Given the description of an element on the screen output the (x, y) to click on. 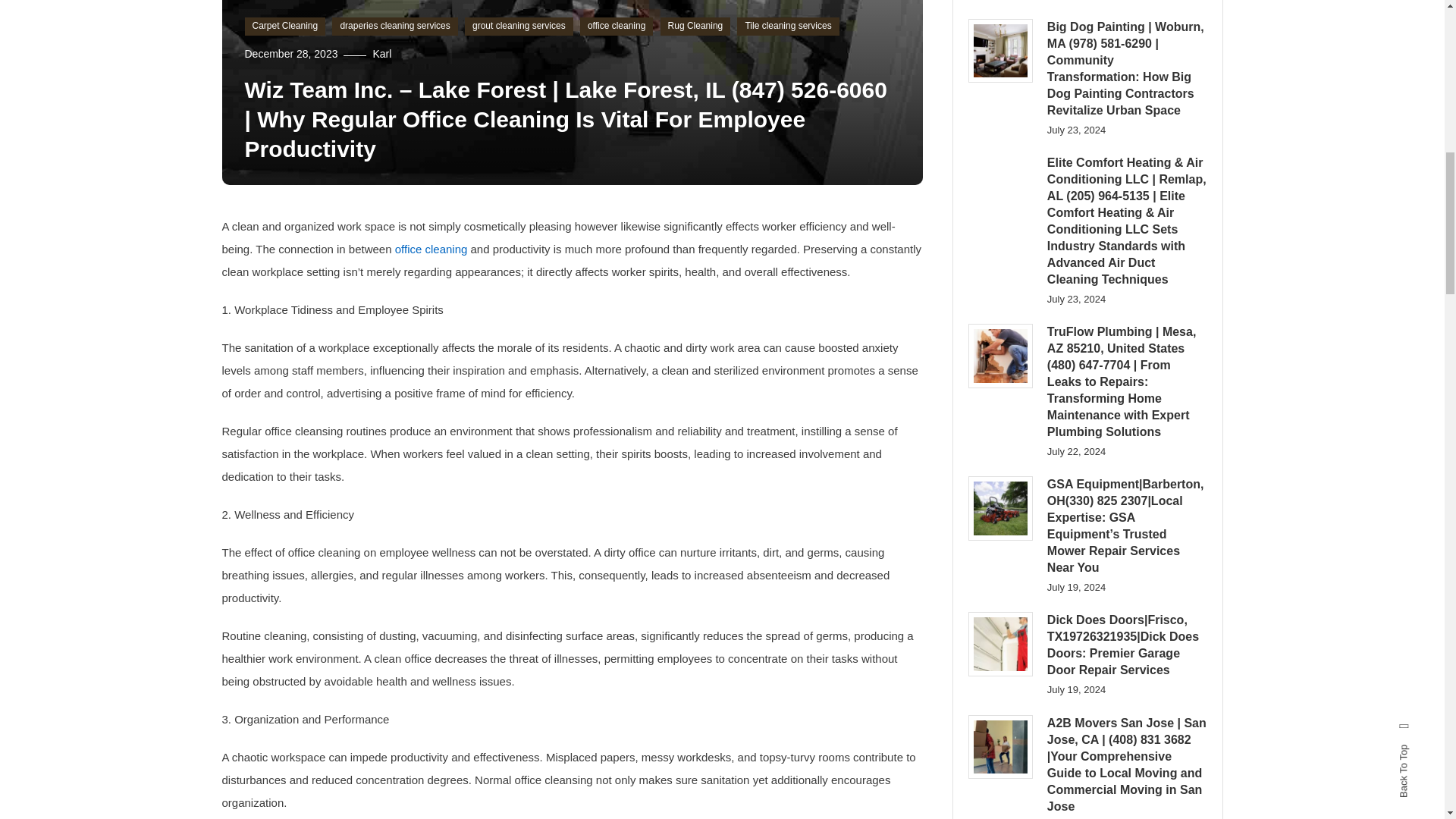
Carpet Cleaning (284, 26)
